Given the description of an element on the screen output the (x, y) to click on. 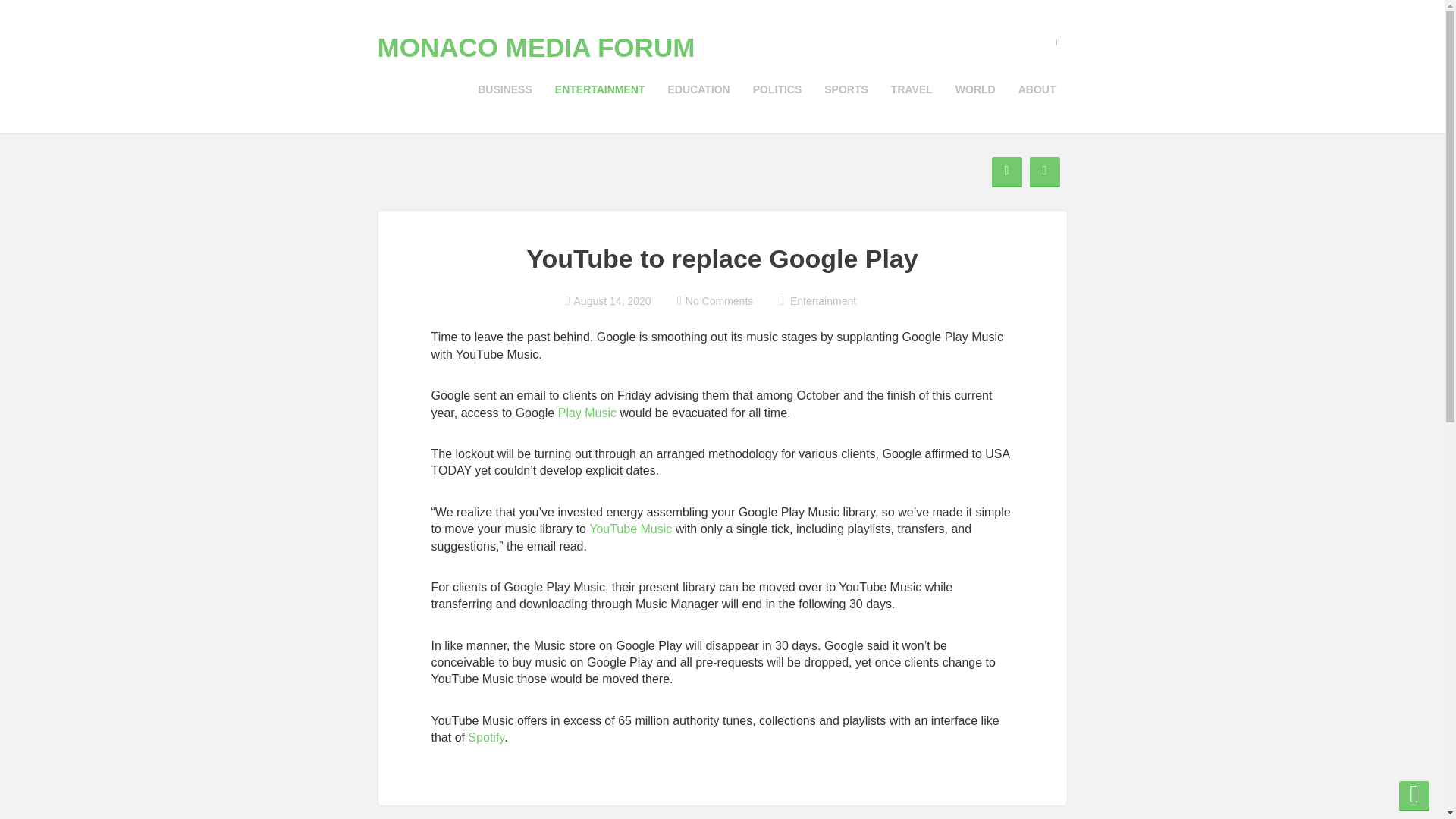
Monaco Media Forum (536, 47)
ENTERTAINMENT (599, 89)
MONACO MEDIA FORUM (536, 47)
WORLD (975, 89)
Spotify (483, 737)
SPORTS (845, 89)
EDUCATION (698, 89)
ABOUT (1037, 89)
No Comments (714, 300)
BUSINESS (504, 89)
